Given the description of an element on the screen output the (x, y) to click on. 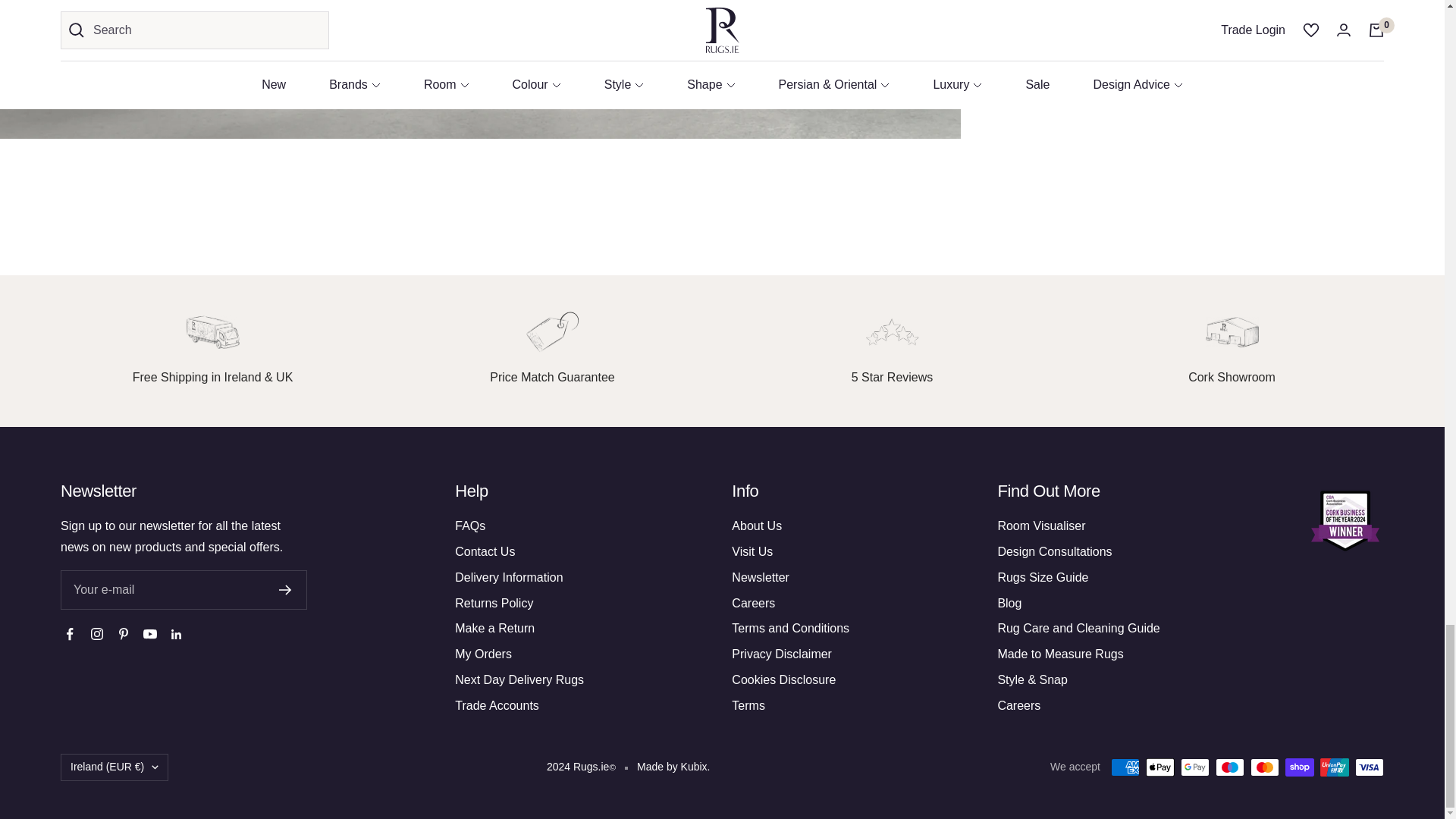
Register (285, 589)
